Given the description of an element on the screen output the (x, y) to click on. 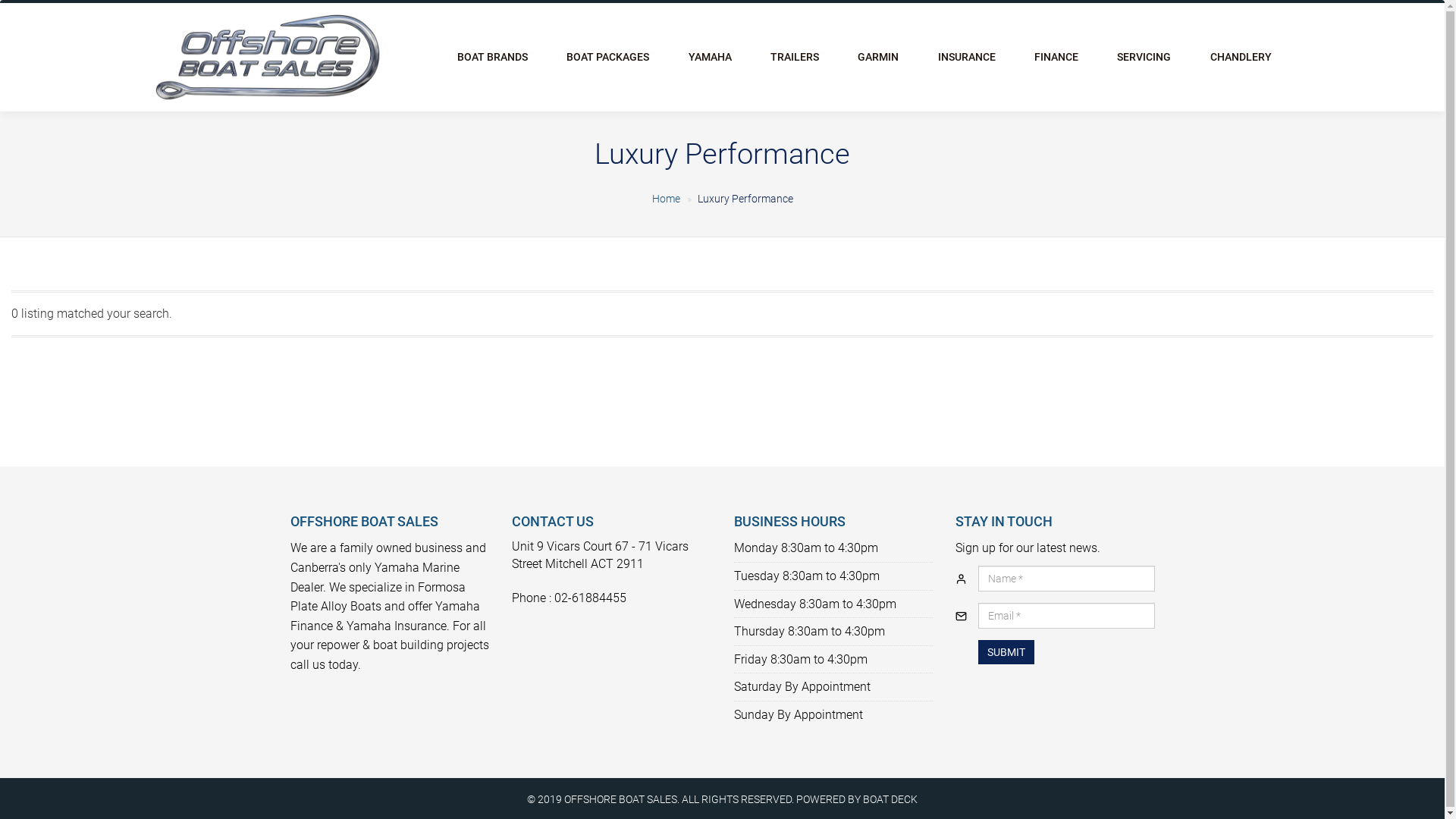
FINANCE Element type: text (1055, 57)
OFFSHORE BOAT SALES Element type: text (620, 799)
YAMAHA Element type: text (709, 57)
SUBMIT Element type: text (1006, 652)
GARMIN Element type: text (878, 57)
INSURANCE Element type: text (966, 57)
BOAT PACKAGES Element type: text (607, 57)
Home Element type: text (666, 198)
02-61884455 Element type: text (590, 597)
SERVICING Element type: text (1144, 57)
BOAT DECK Element type: text (889, 799)
CHANDLERY Element type: text (1240, 57)
BOAT BRANDS Element type: text (492, 57)
TRAILERS Element type: text (793, 57)
